Given the description of an element on the screen output the (x, y) to click on. 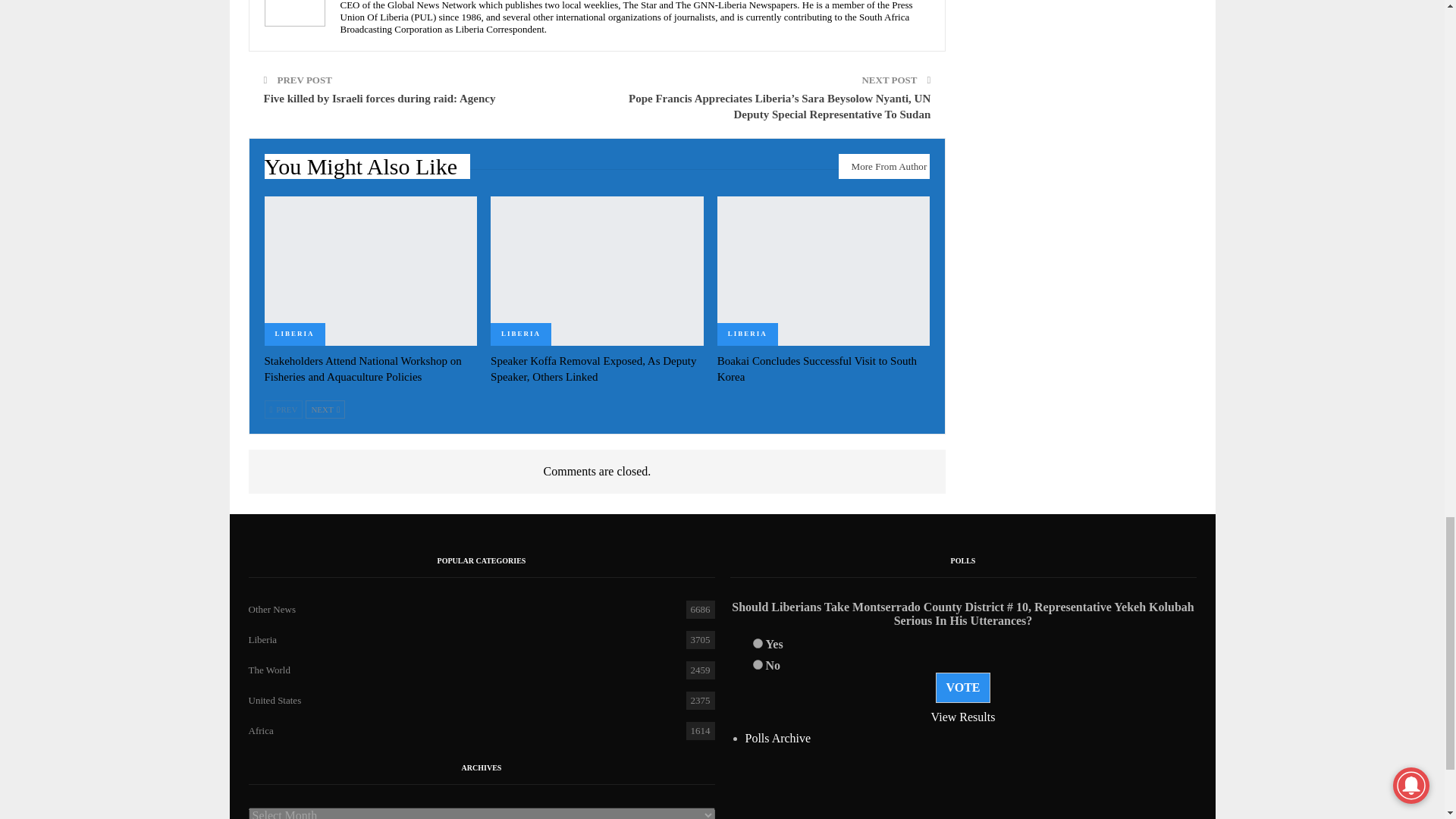
377 (756, 664)
More From Author (884, 166)
Next (325, 409)
376 (756, 643)
View Results Of This Poll (963, 716)
Five killed by Israeli forces during raid: Agency (379, 98)
